Given the description of an element on the screen output the (x, y) to click on. 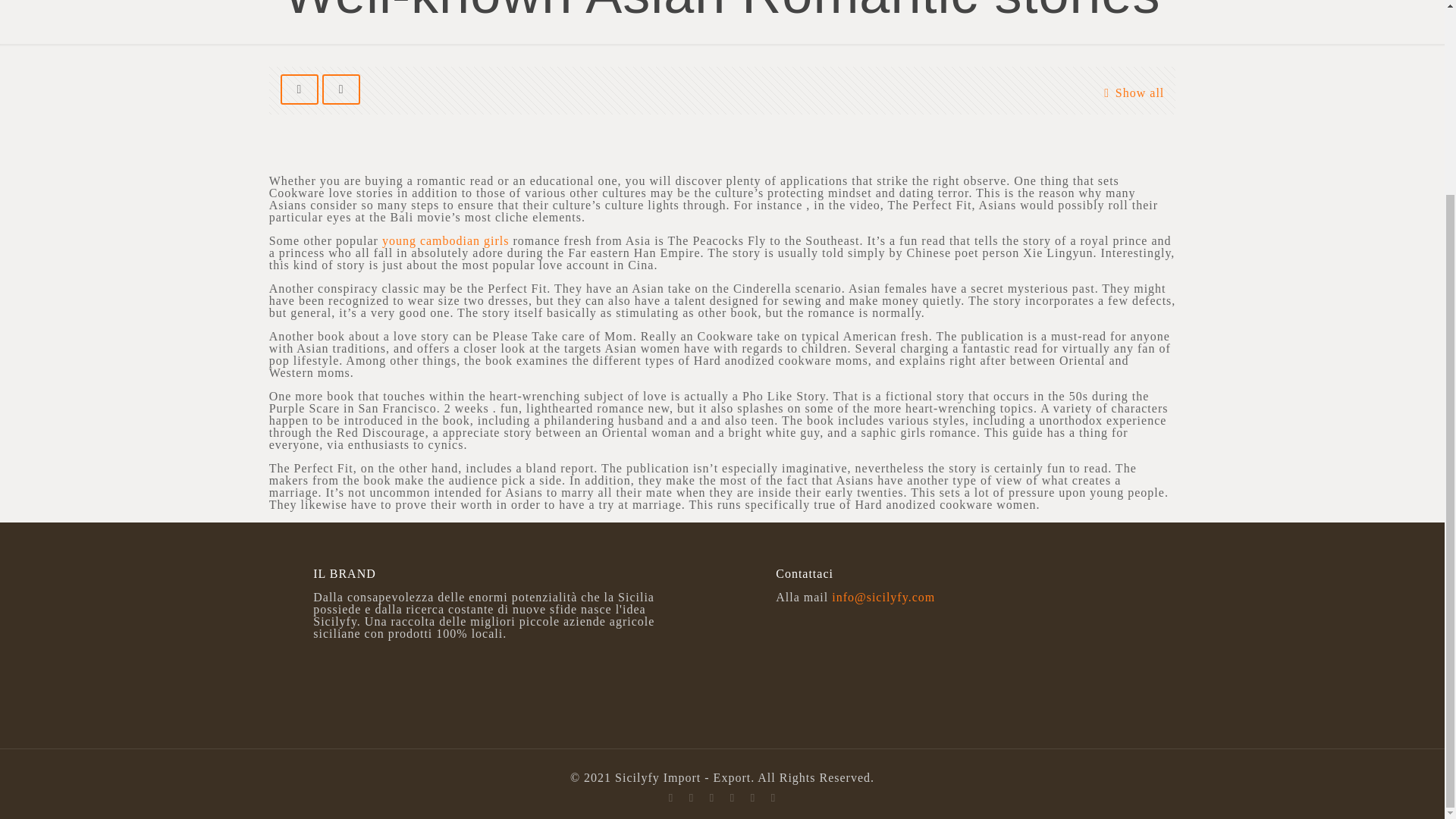
Show all (1130, 92)
Twitter (731, 797)
Facebook (711, 797)
YouTube (752, 797)
WhatsApp (690, 797)
LinkedIn (772, 797)
young cambodian girls (445, 240)
Skype (670, 797)
